Given the description of an element on the screen output the (x, y) to click on. 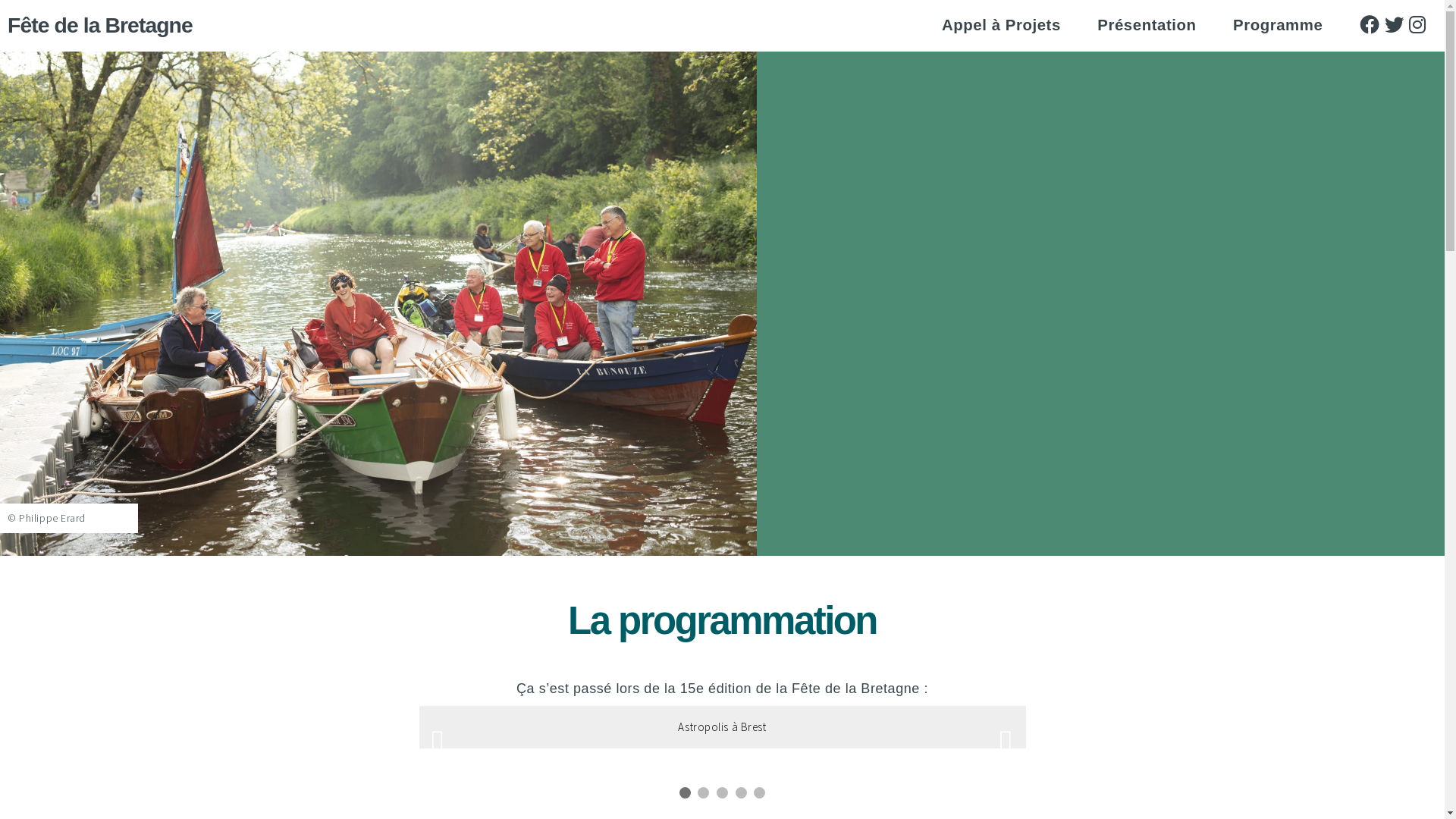
Suite Element type: text (714, 501)
Programme Element type: text (1277, 24)
Marque Bretagne Element type: text (1398, 114)
